Given the description of an element on the screen output the (x, y) to click on. 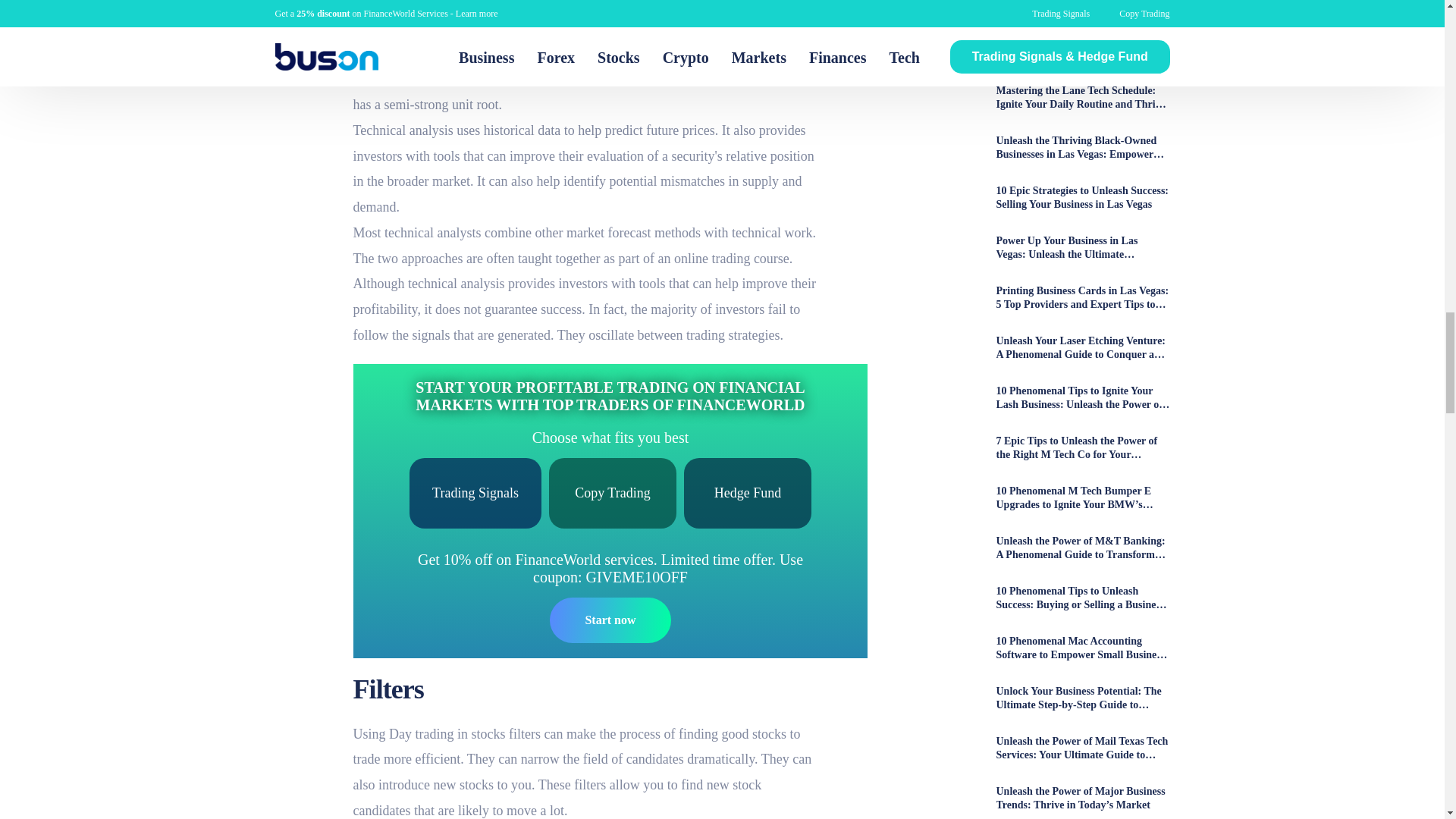
Copy Trading (612, 493)
Hedge Fund (747, 493)
Trading Signals (475, 493)
